Given the description of an element on the screen output the (x, y) to click on. 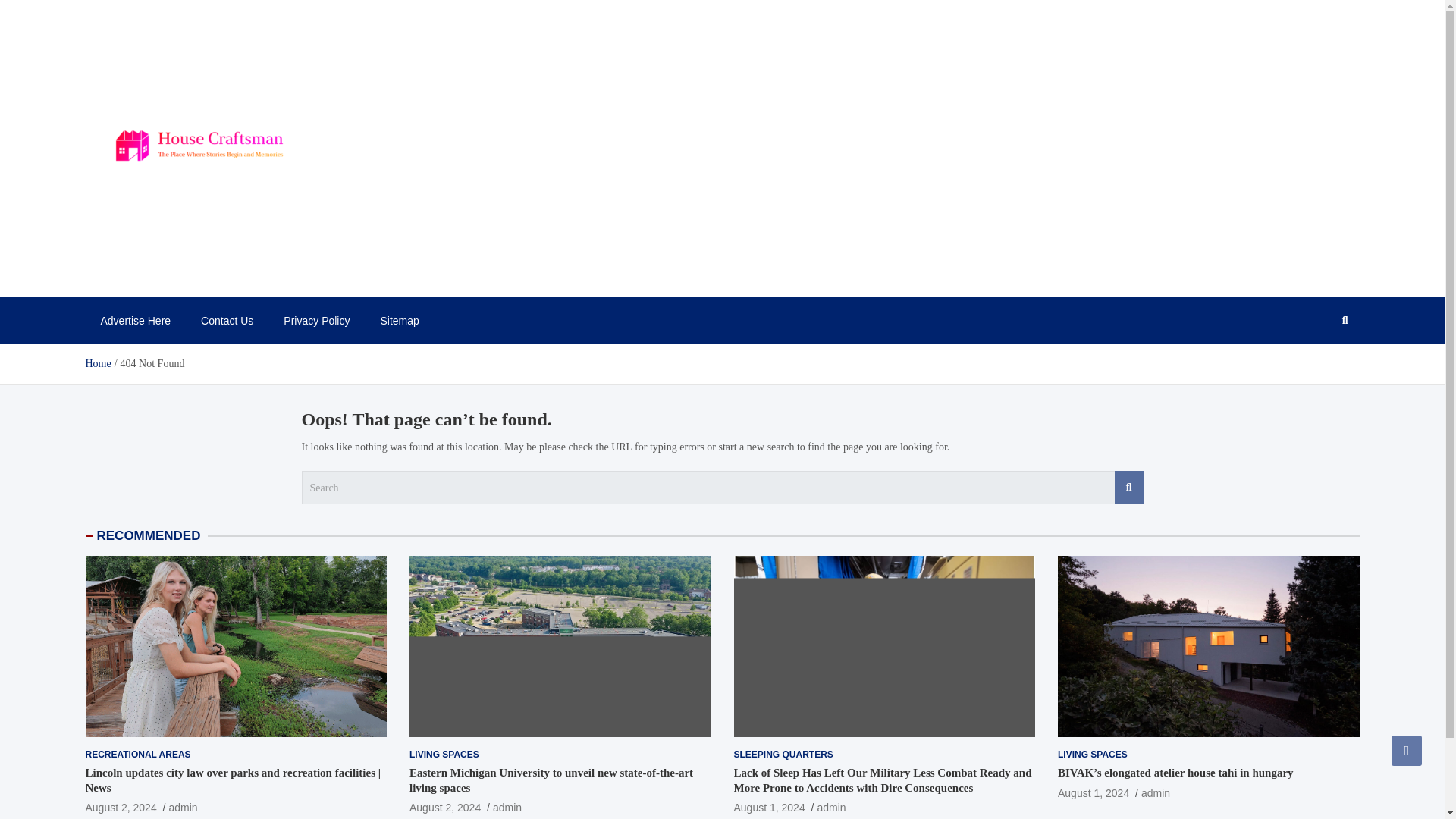
Sitemap (399, 320)
SLEEPING QUARTERS (782, 754)
Go to Top (1406, 750)
August 2, 2024 (444, 807)
Home (97, 363)
August 2, 2024 (119, 807)
August 1, 2024 (769, 807)
LIVING SPACES (1092, 754)
LIVING SPACES (444, 754)
admin (182, 807)
admin (830, 807)
